Given the description of an element on the screen output the (x, y) to click on. 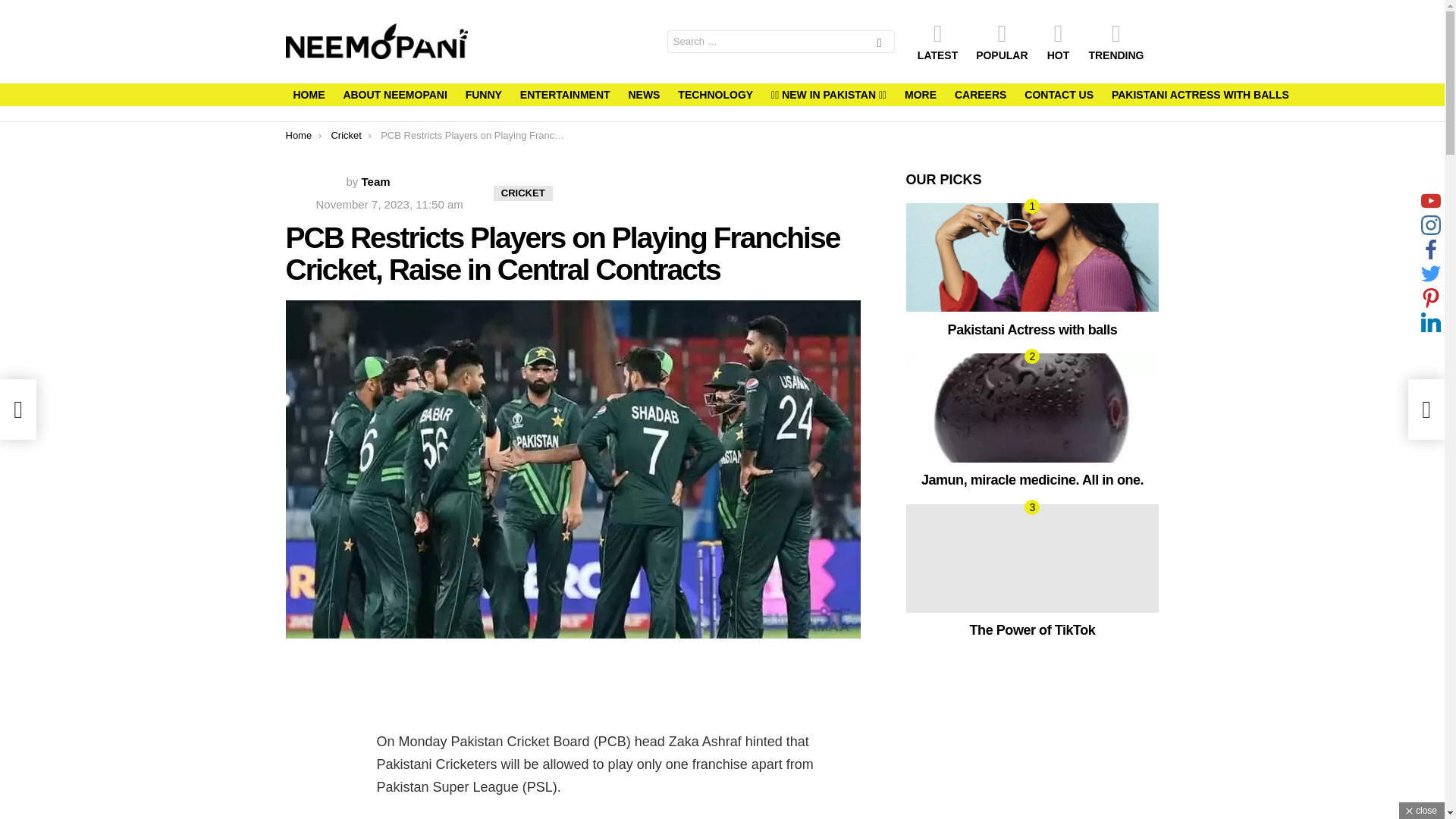
NEWS (643, 94)
PAKISTANI ACTRESS WITH BALLS (1200, 94)
HOME (308, 94)
CRICKET (523, 192)
Team (375, 181)
Posts by Team (375, 181)
SEARCH (879, 44)
CAREERS (980, 94)
LATEST (937, 41)
